Given the description of an element on the screen output the (x, y) to click on. 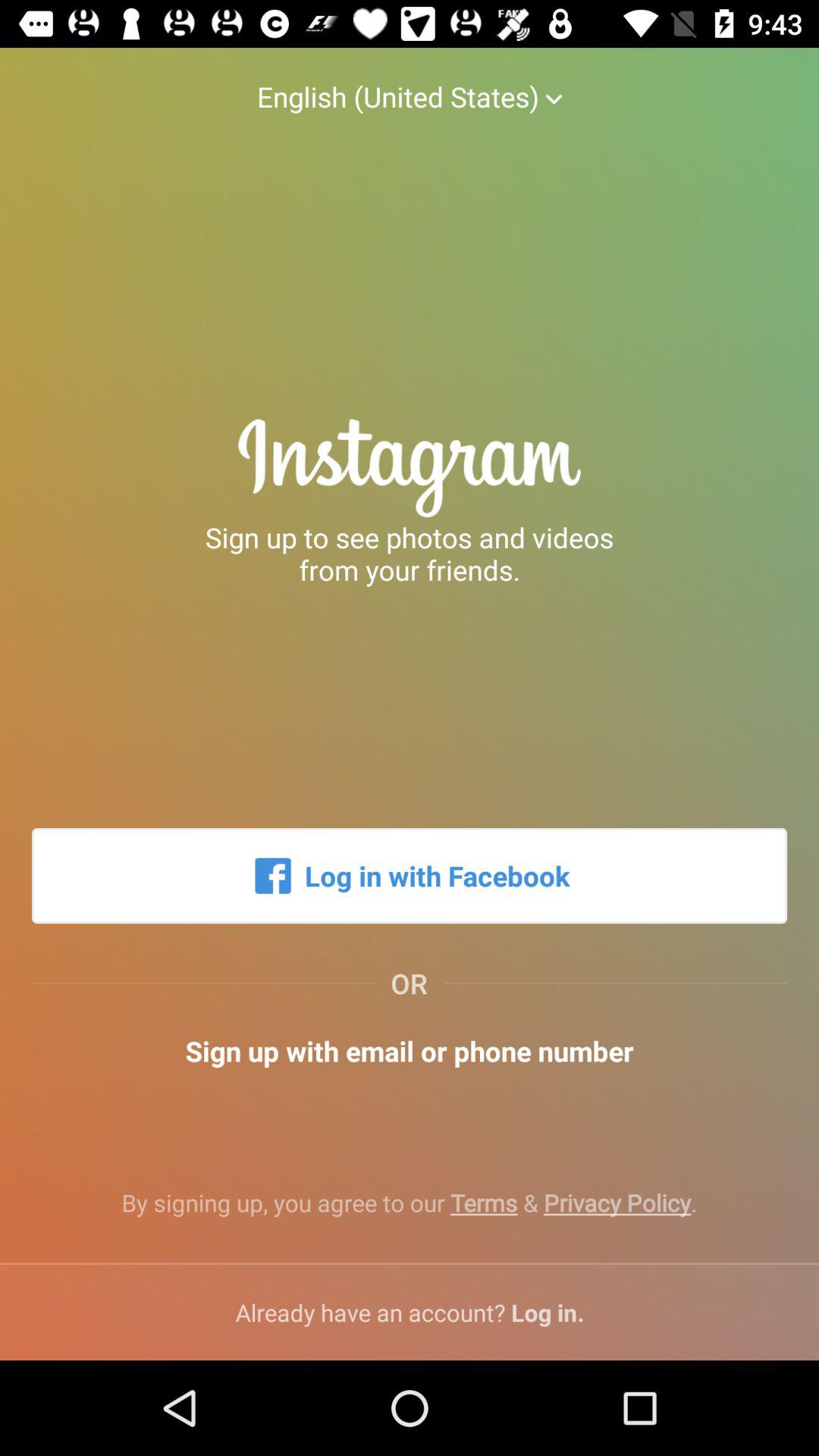
press by signing up icon (409, 1214)
